Given the description of an element on the screen output the (x, y) to click on. 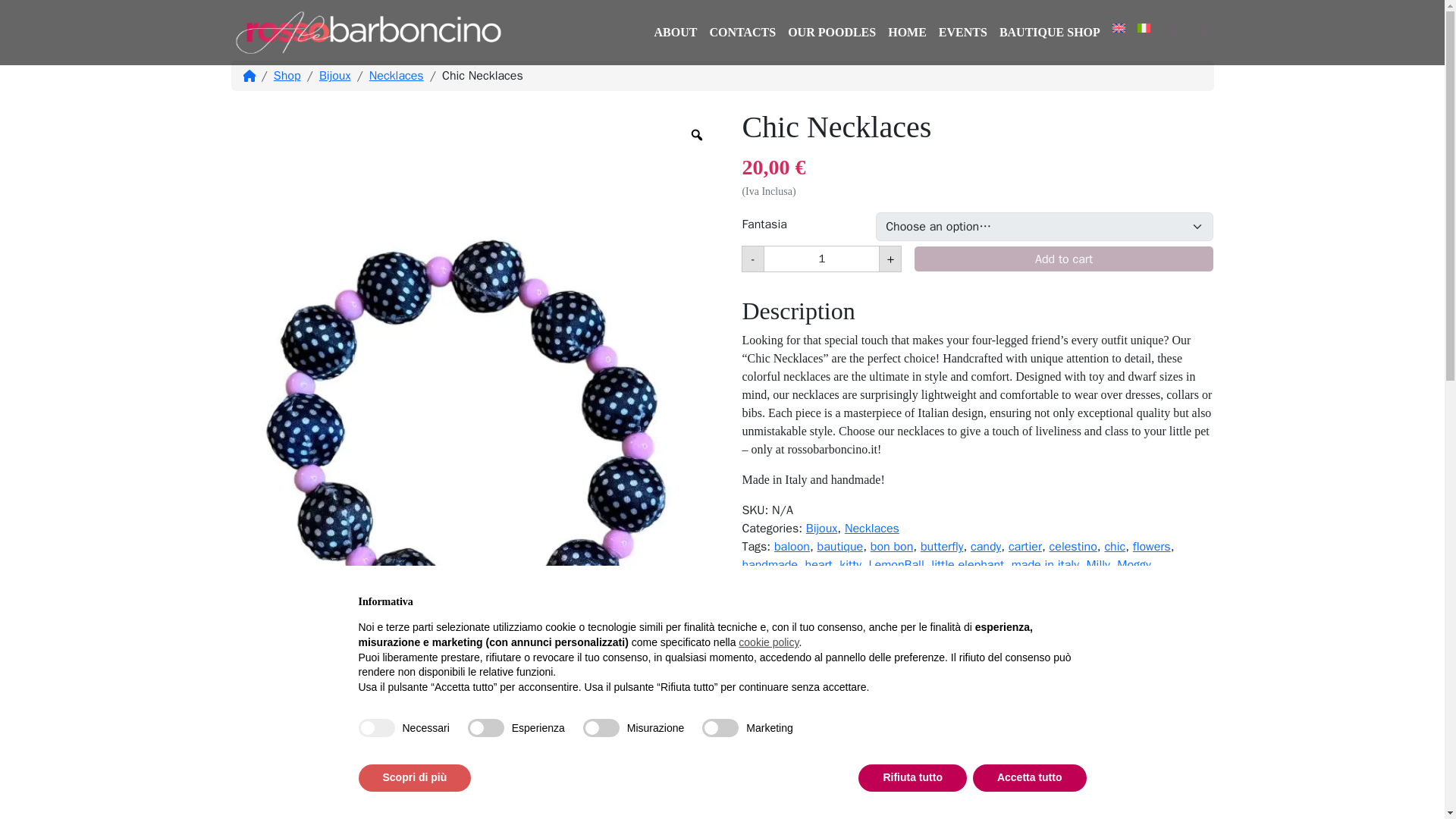
1 (821, 258)
Add to cart (1063, 258)
Bijoux (822, 528)
cartier (1025, 546)
BAUTIQUE SHOP (1049, 32)
false (721, 75)
EVENTS (601, 728)
Necklaces (962, 32)
celestino (396, 75)
HOME (1073, 546)
Bijoux (907, 32)
ABOUT (334, 75)
